Given the description of an element on the screen output the (x, y) to click on. 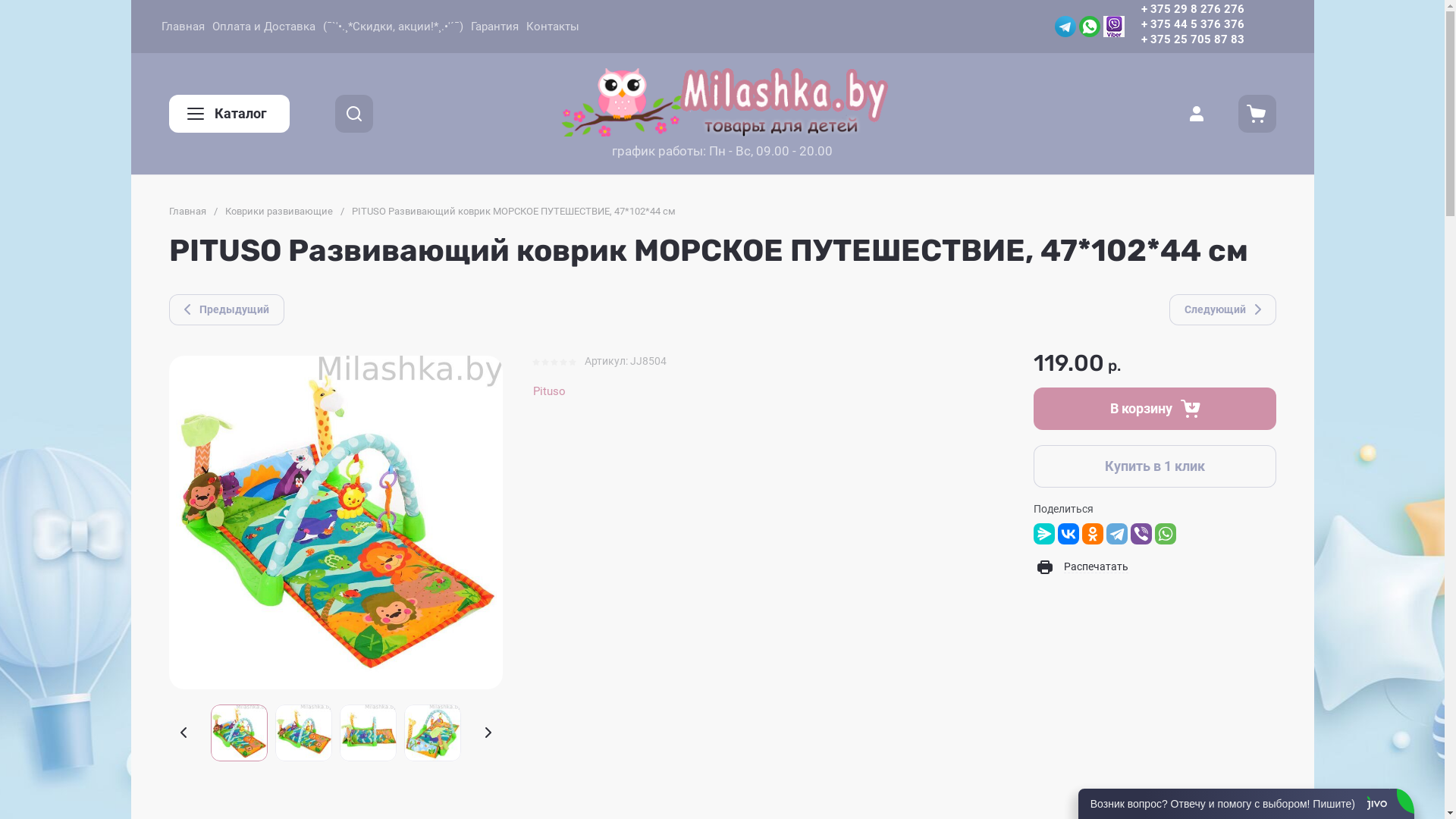
Viber Element type: hover (1112, 26)
+ 375 44 5 376 376 Element type: text (1191, 24)
Telegram Element type: hover (1115, 533)
Telegram Element type: hover (1064, 26)
WhatsApp Element type: hover (1164, 533)
Whatsapp Element type: hover (1088, 26)
Pituso Element type: text (548, 391)
+ 375 25 705 87 83 Element type: text (1191, 39)
+ 375 29 8 276 276 Element type: text (1191, 8)
Viber Element type: hover (1140, 533)
